Given the description of an element on the screen output the (x, y) to click on. 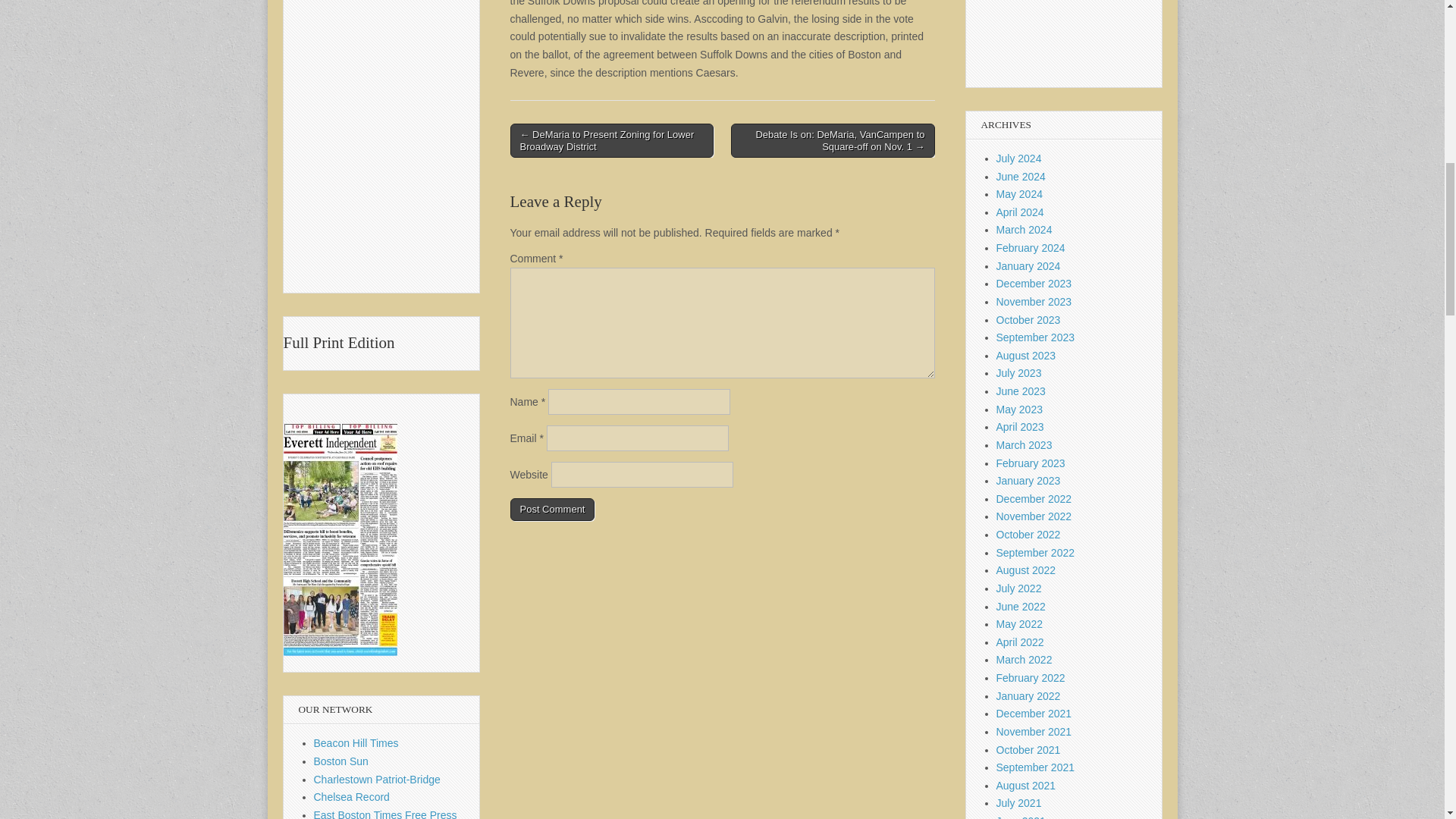
Boston Sun (341, 761)
East Boston Times Free Press (385, 814)
Chelsea Record (352, 797)
Post Comment (551, 508)
Post Comment (551, 508)
Charlestown Patriot-Bridge (377, 779)
Beacon Hill Times (356, 743)
